Given the description of an element on the screen output the (x, y) to click on. 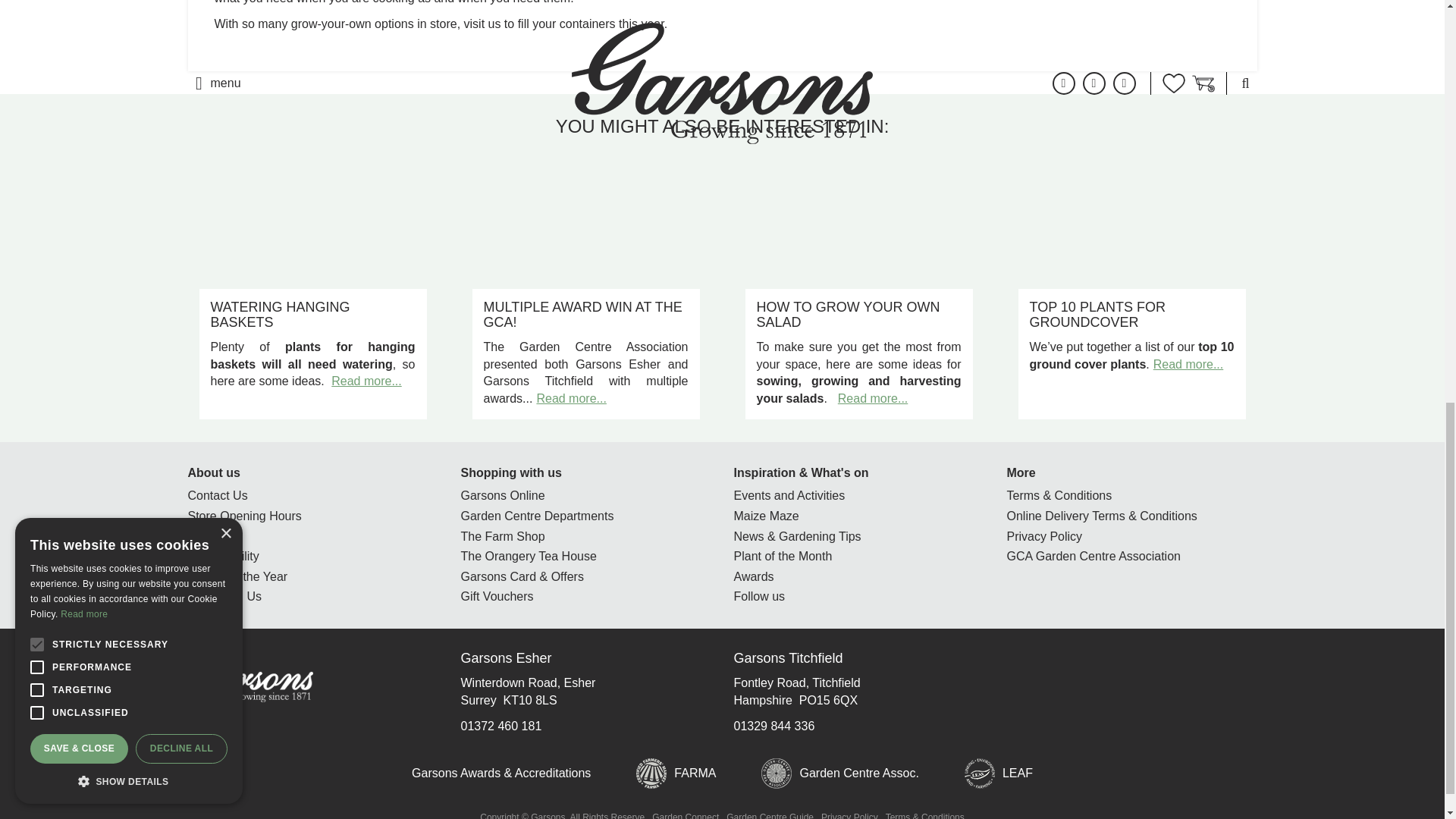
WATERING HANGING BASKETS (280, 314)
HOW TO GROW YOUR OWN SALAD (848, 314)
Read more... (570, 398)
TOP 10 PLANTS FOR GROUNDCOVER (1097, 314)
Read more... (366, 380)
MULTIPLE AWARD WIN AT THE GCA! (582, 314)
Read more... (872, 398)
